Given the description of an element on the screen output the (x, y) to click on. 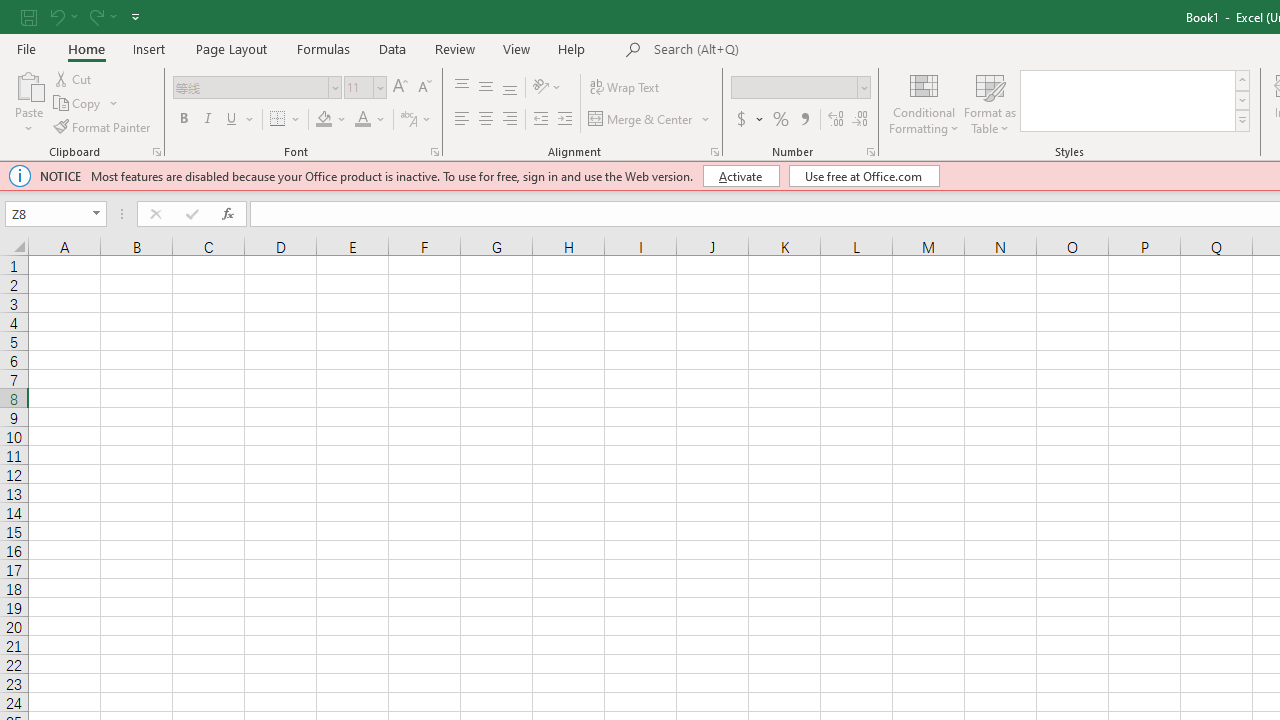
Bold (183, 119)
Align Right (509, 119)
Format as Table (990, 102)
Middle Align (485, 87)
Fill Color (324, 119)
Increase Decimal (836, 119)
Align Left (461, 119)
Underline (232, 119)
Underline (239, 119)
Format Cell Number (870, 151)
